Given the description of an element on the screen output the (x, y) to click on. 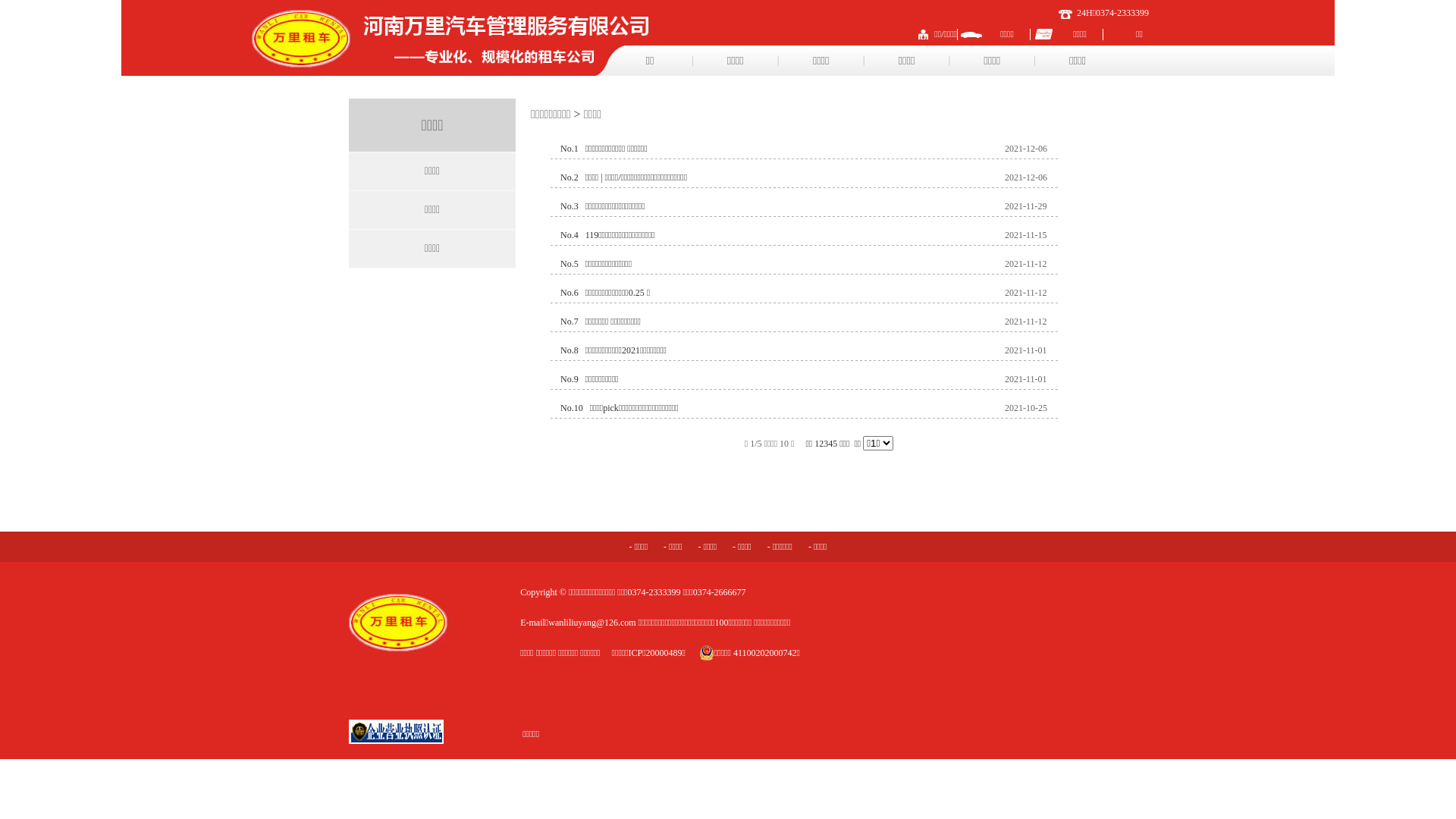
1 Element type: text (816, 443)
2 Element type: text (821, 443)
4 Element type: text (830, 443)
3 Element type: text (825, 443)
5 Element type: text (834, 443)
